Given the description of an element on the screen output the (x, y) to click on. 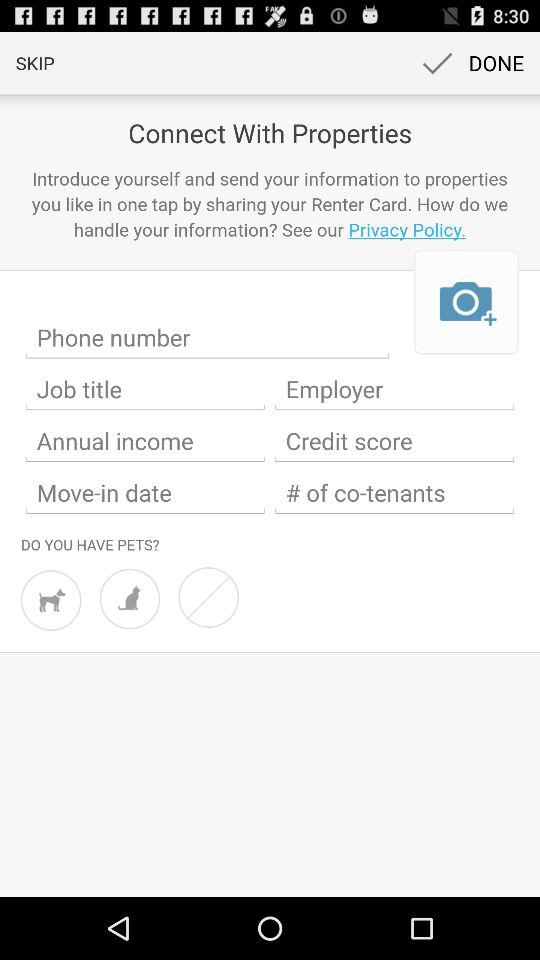
mark a dog as a pet (51, 600)
